Given the description of an element on the screen output the (x, y) to click on. 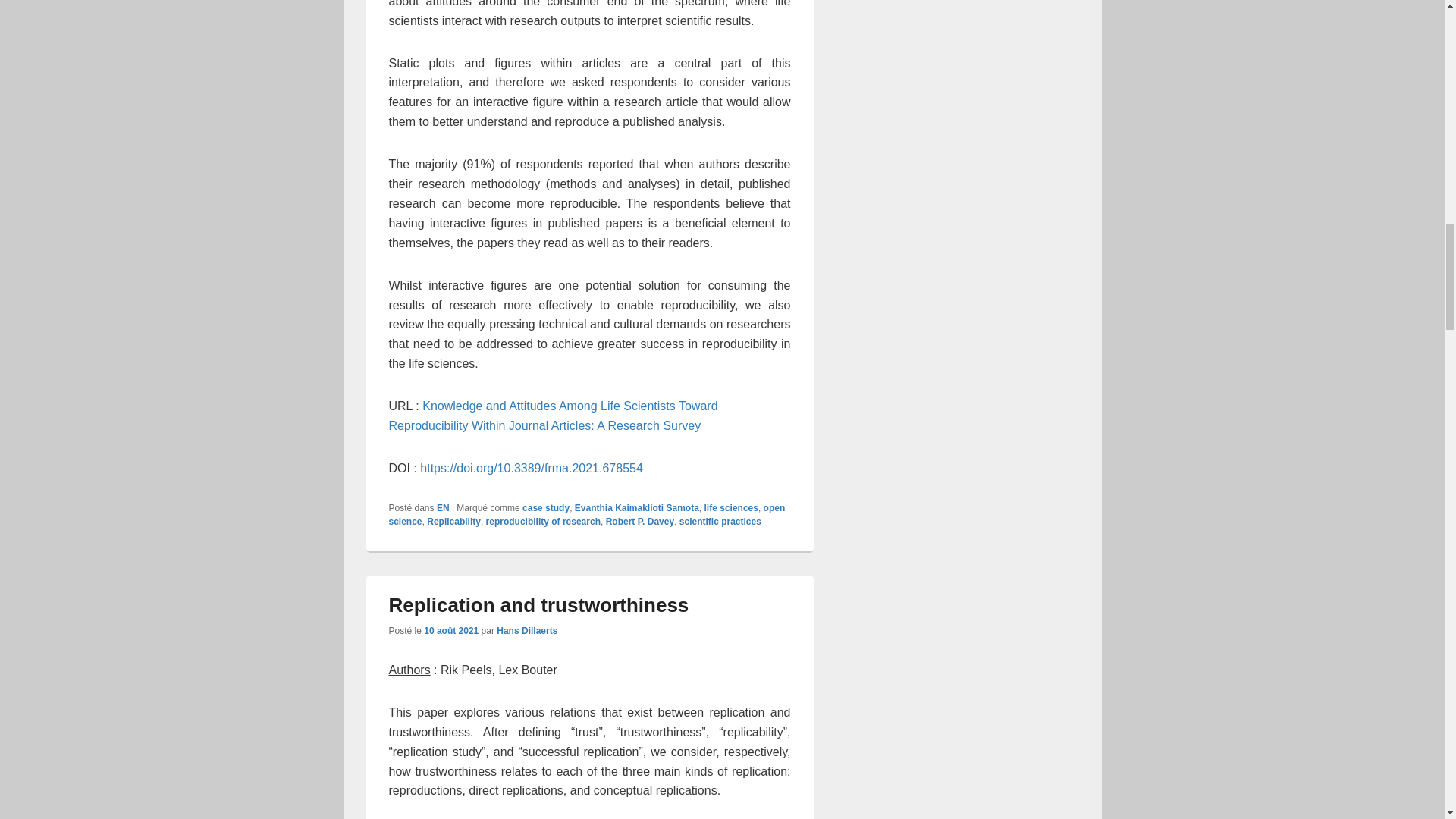
life sciences (731, 507)
scientific practices (720, 521)
Evanthia Kaimaklioti Samota (636, 507)
Robert P. Davey (640, 521)
Replicability (453, 521)
reproducibility of research (542, 521)
Hans Dillaerts (526, 630)
11 h 04 min (451, 630)
open science (586, 514)
Voir tous les articles par Hans Dillaerts (526, 630)
